Given the description of an element on the screen output the (x, y) to click on. 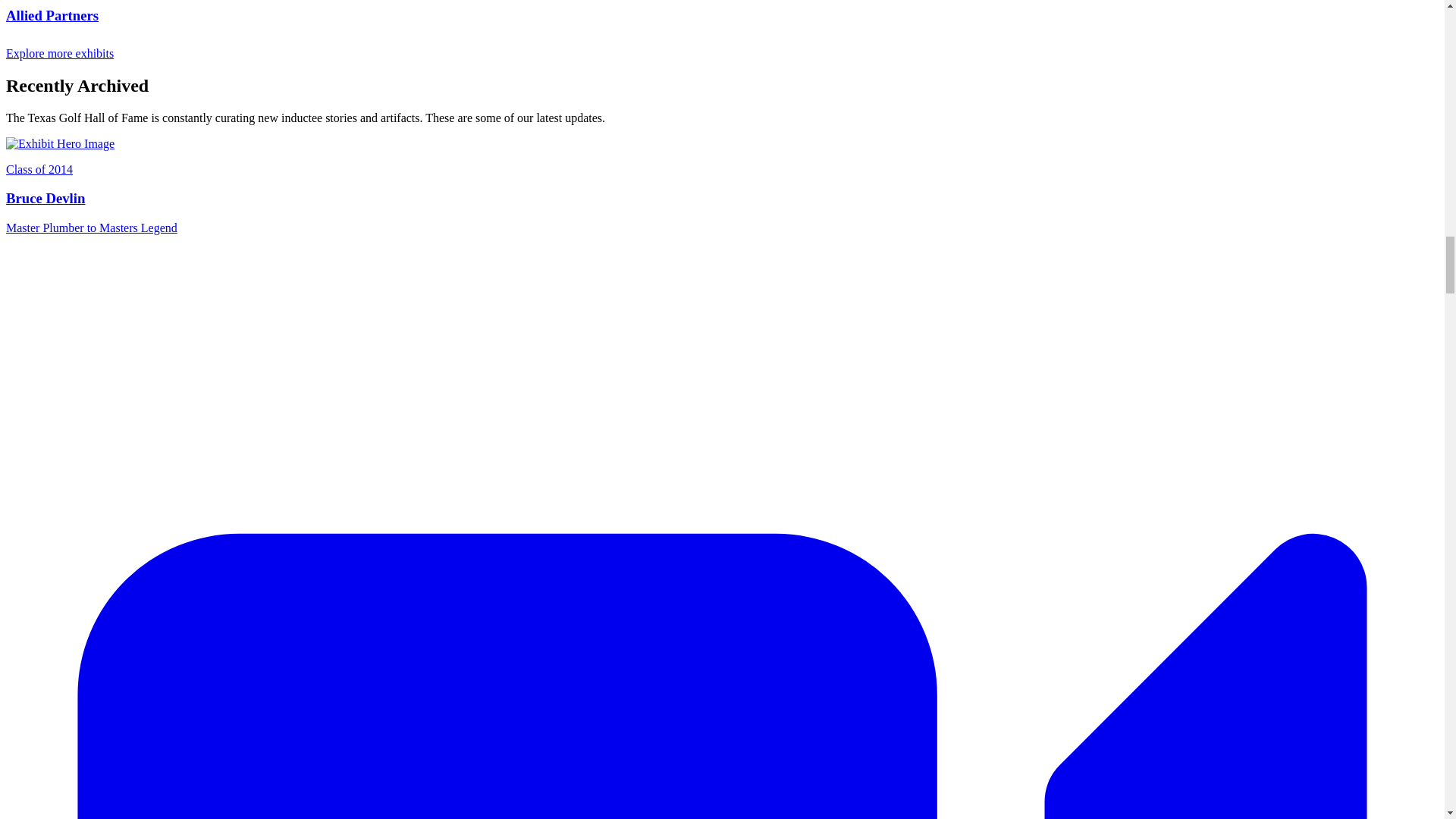
Explore more exhibits (68, 52)
